Given the description of an element on the screen output the (x, y) to click on. 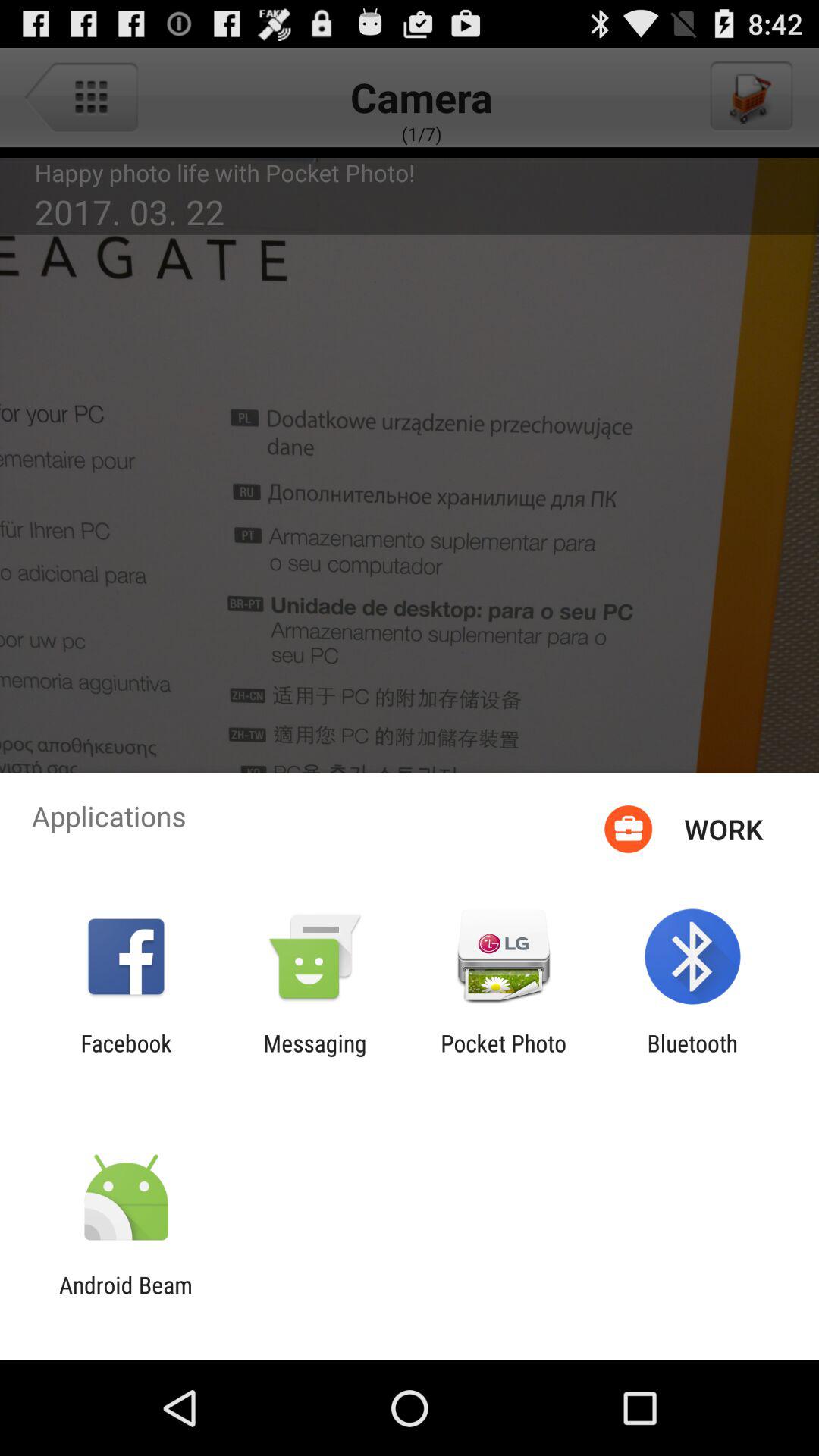
swipe until messaging icon (314, 1056)
